Given the description of an element on the screen output the (x, y) to click on. 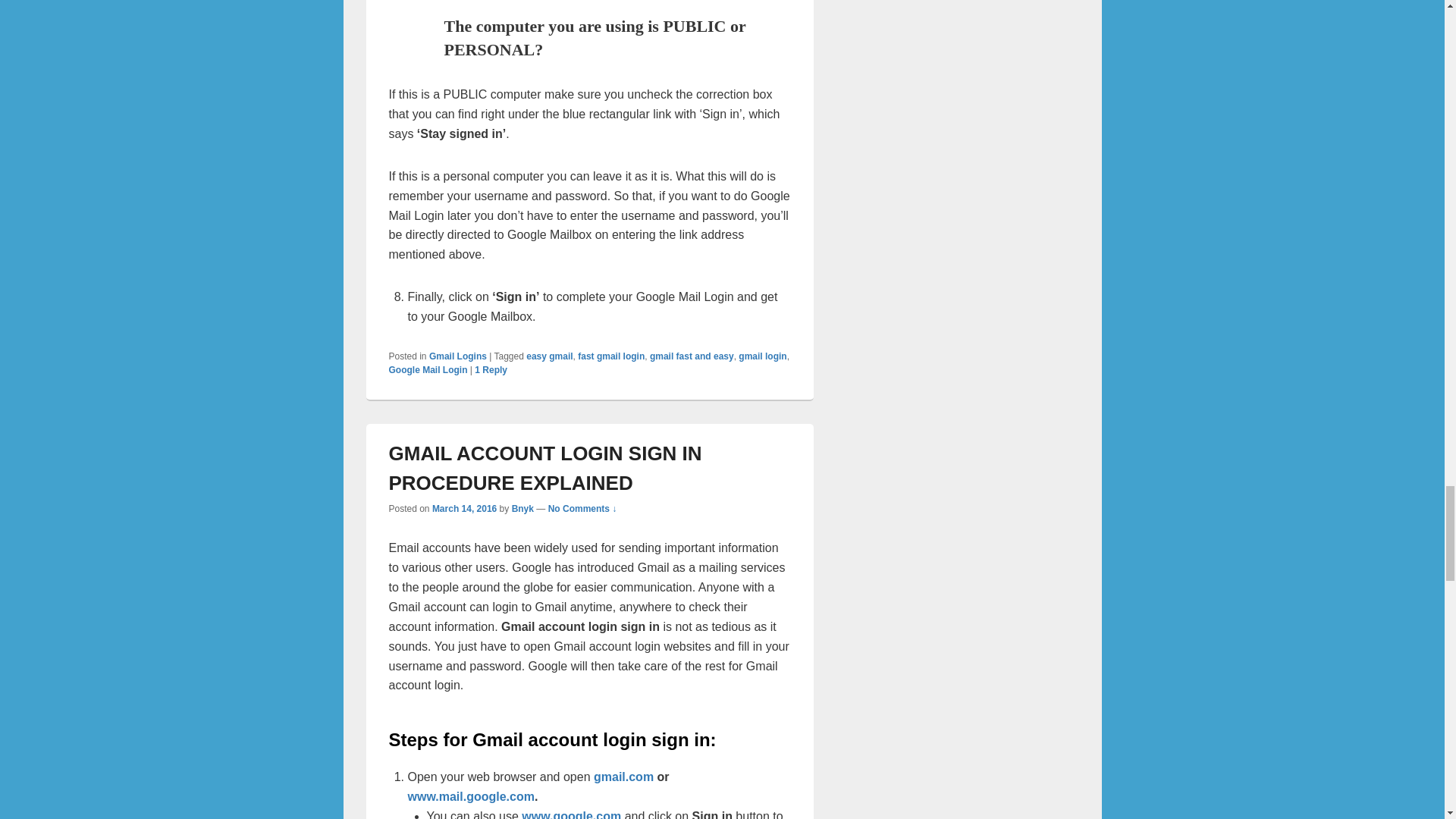
easy gmail (548, 356)
gmail fast and easy (691, 356)
Gmail Logins (457, 356)
Permalink to Gmail Account Login Sign In Procedure Explained (544, 468)
View all posts by Bnyk (523, 508)
11:44 pm (464, 508)
fast gmail login (611, 356)
